Given the description of an element on the screen output the (x, y) to click on. 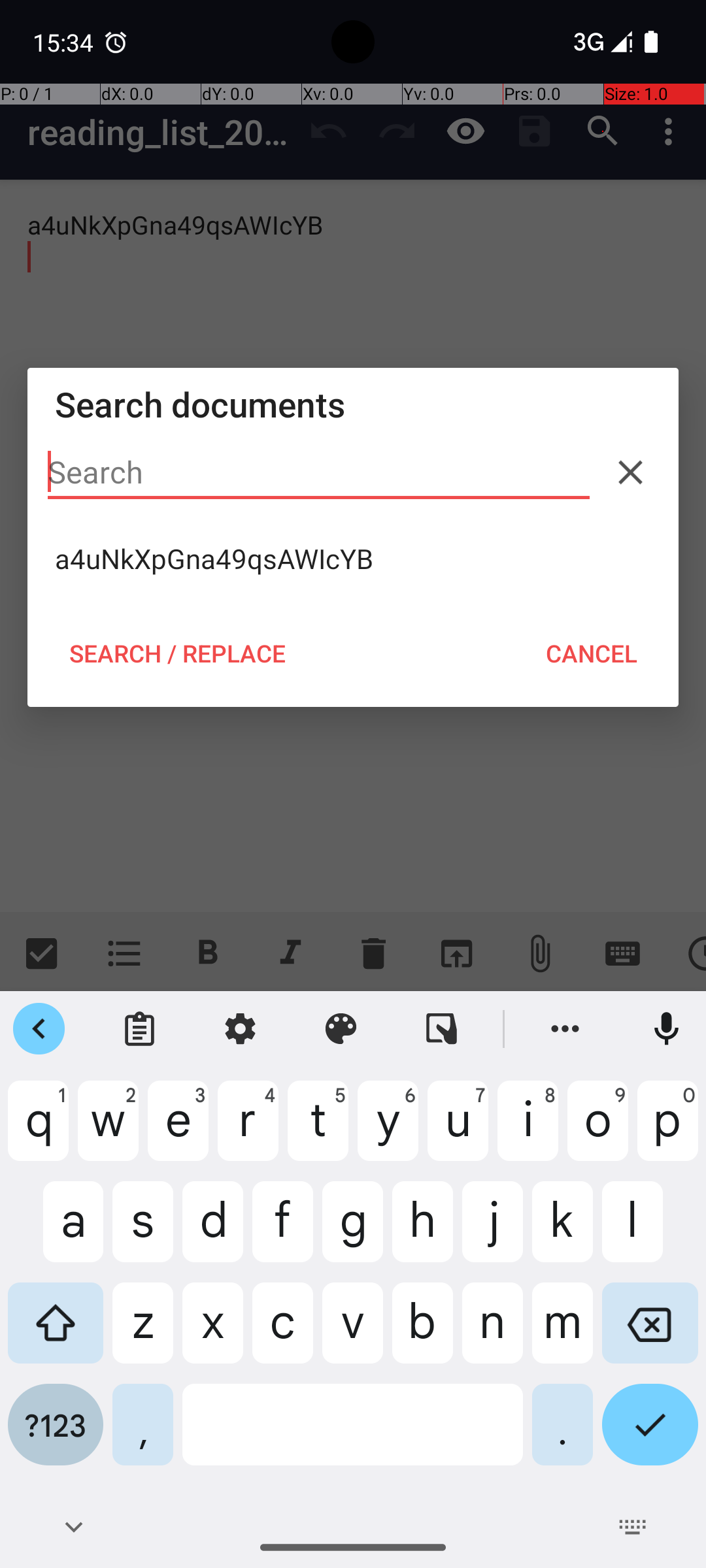
a4uNkXpGna49qsAWIcYB Element type: android.widget.TextView (352, 558)
